Given the description of an element on the screen output the (x, y) to click on. 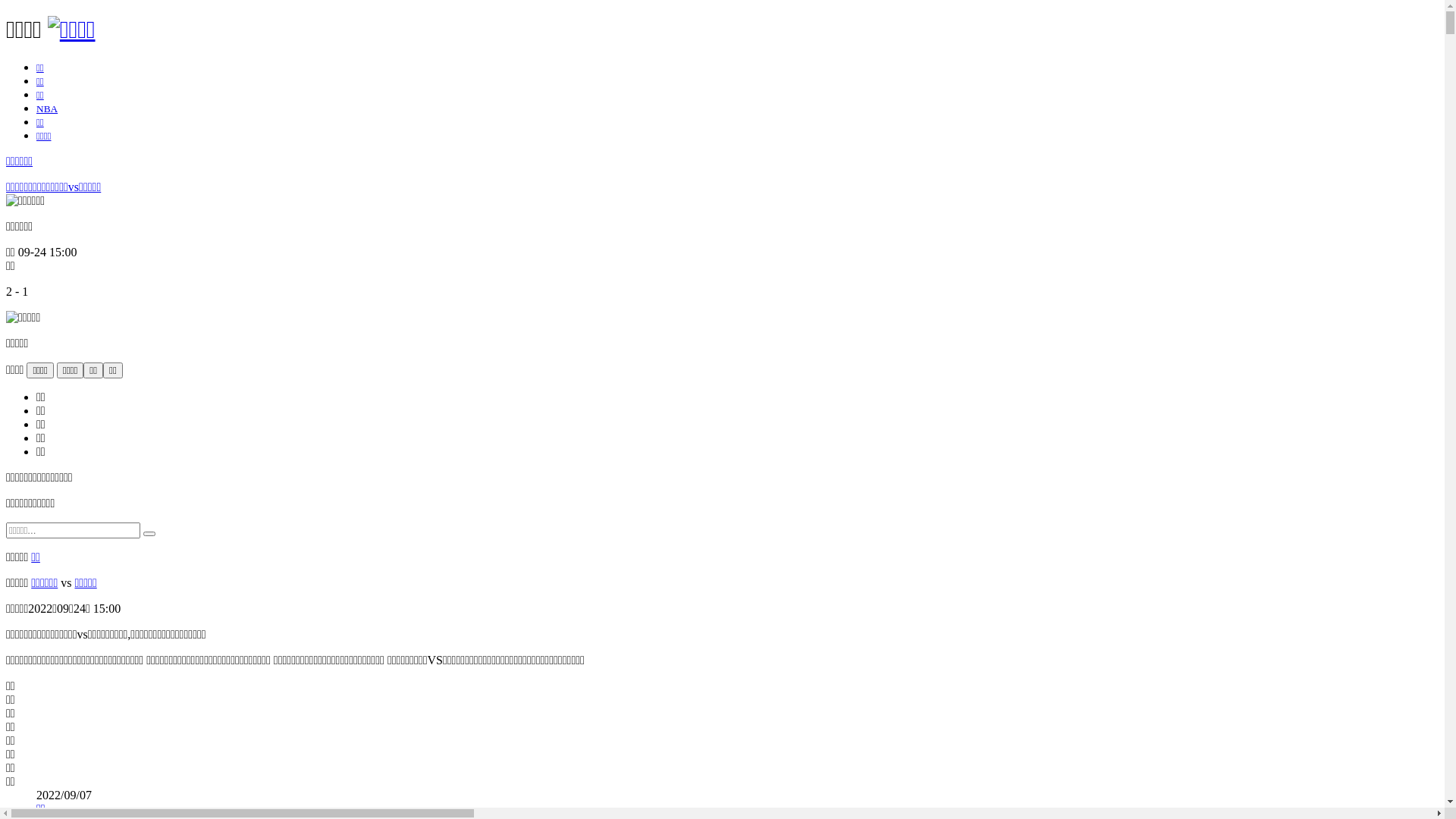
NBA Element type: text (46, 108)
